Given the description of an element on the screen output the (x, y) to click on. 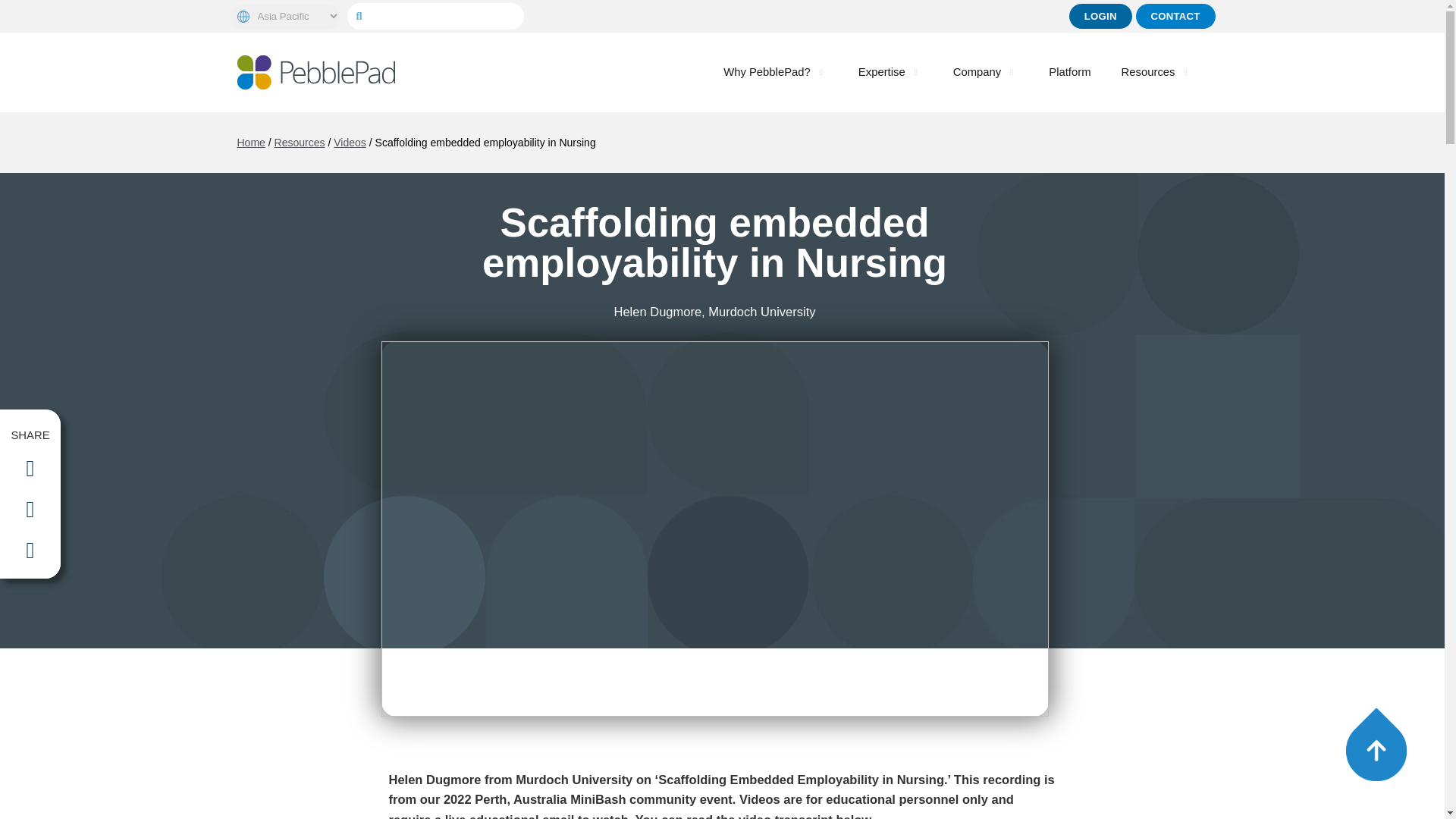
Platform (1069, 71)
Company (977, 71)
Expertise (882, 71)
Why PebblePad? (766, 71)
LOGIN (1100, 16)
CONTACT (1175, 16)
Resources (1147, 71)
